Given the description of an element on the screen output the (x, y) to click on. 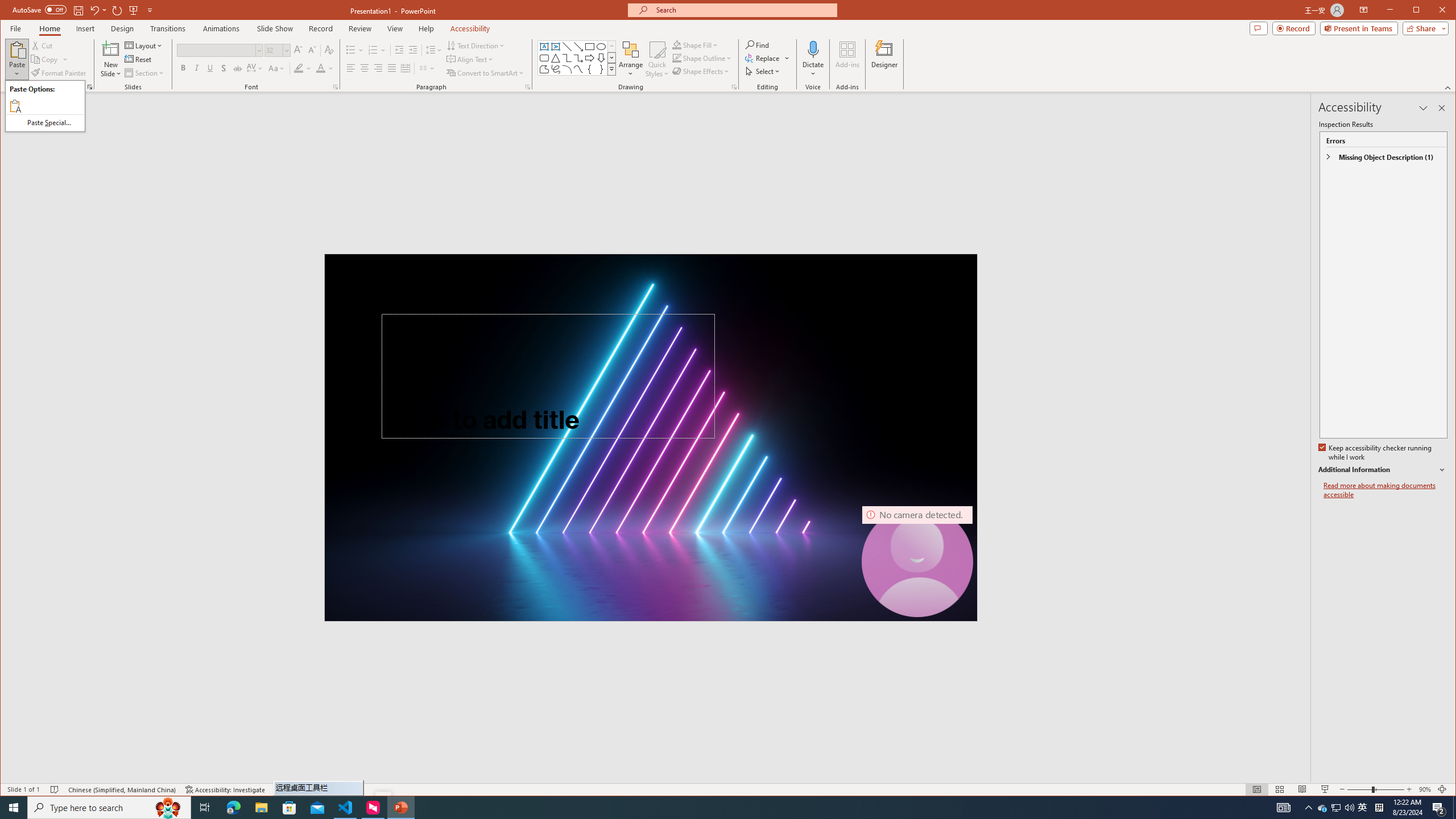
Neon laser lights aligned to form a triangle (650, 436)
